Given the description of an element on the screen output the (x, y) to click on. 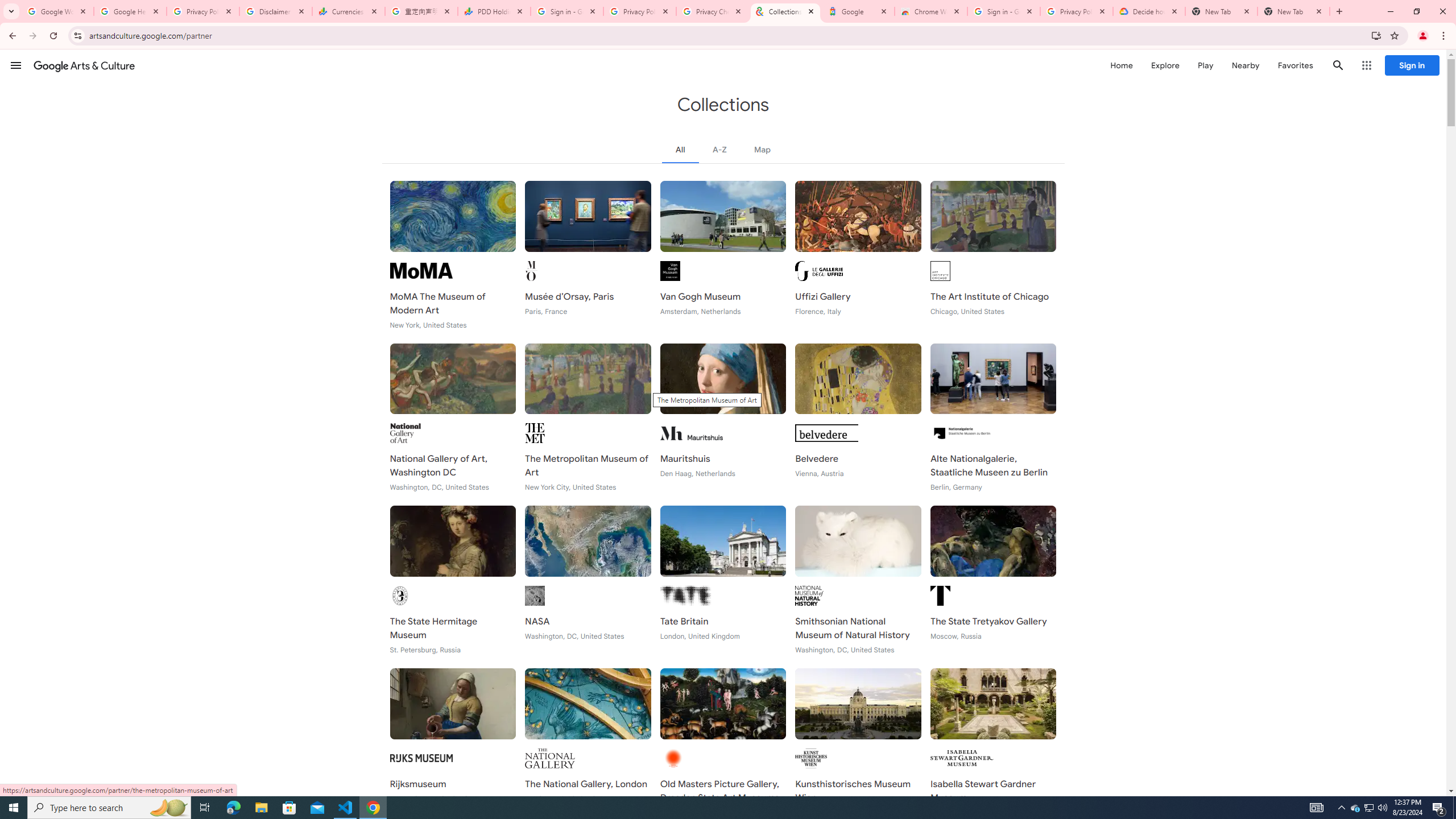
PDD Holdings Inc - ADR (PDD) Price & News - Google Finance (493, 11)
Install Google Arts & Culture (1376, 35)
Menu (15, 65)
The Metropolitan Museum of Art New York City, United States (587, 417)
All (679, 148)
Belvedere Vienna, Austria (857, 417)
Map (762, 148)
